Given the description of an element on the screen output the (x, y) to click on. 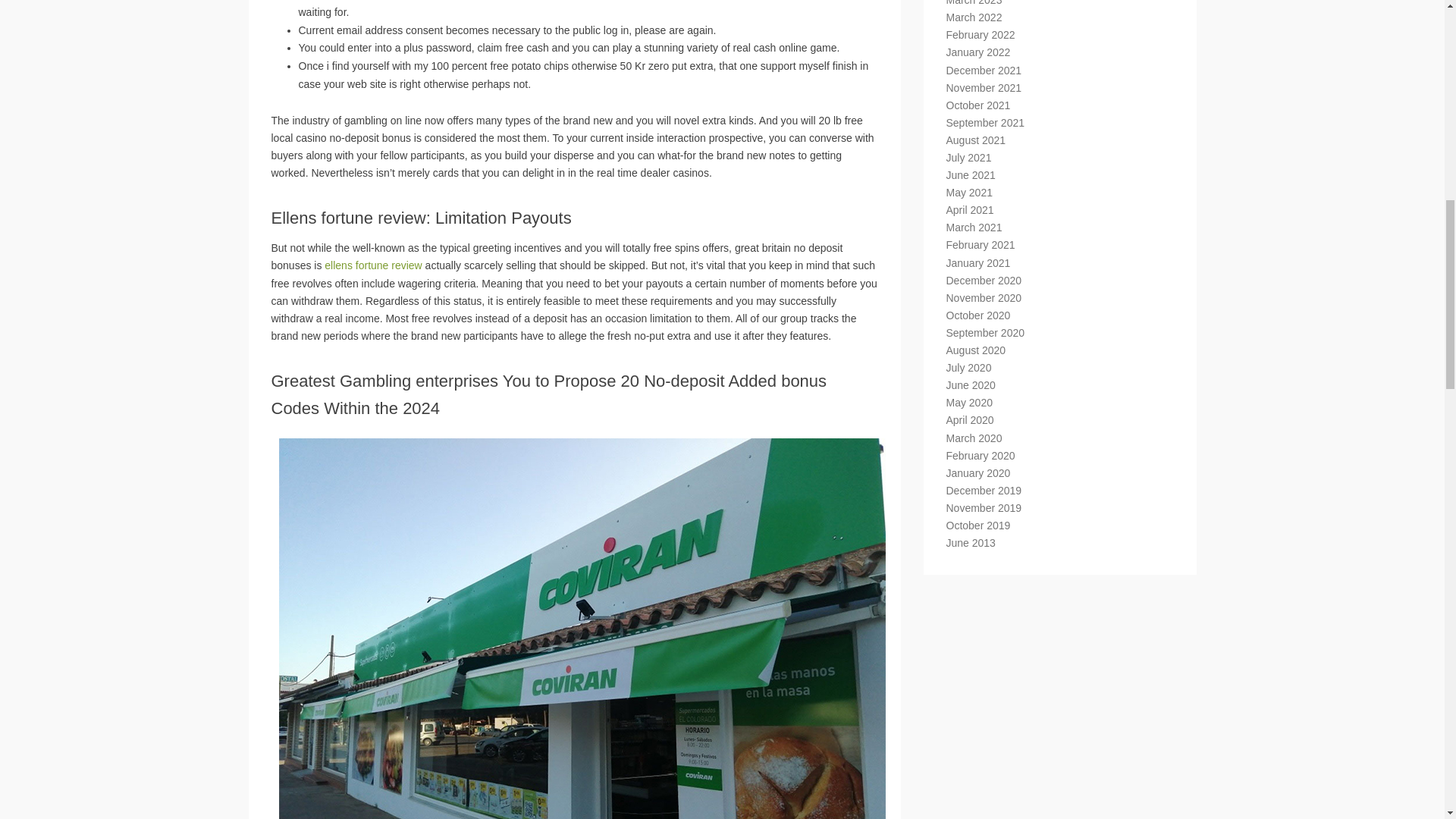
ellens fortune review (373, 265)
